Given the description of an element on the screen output the (x, y) to click on. 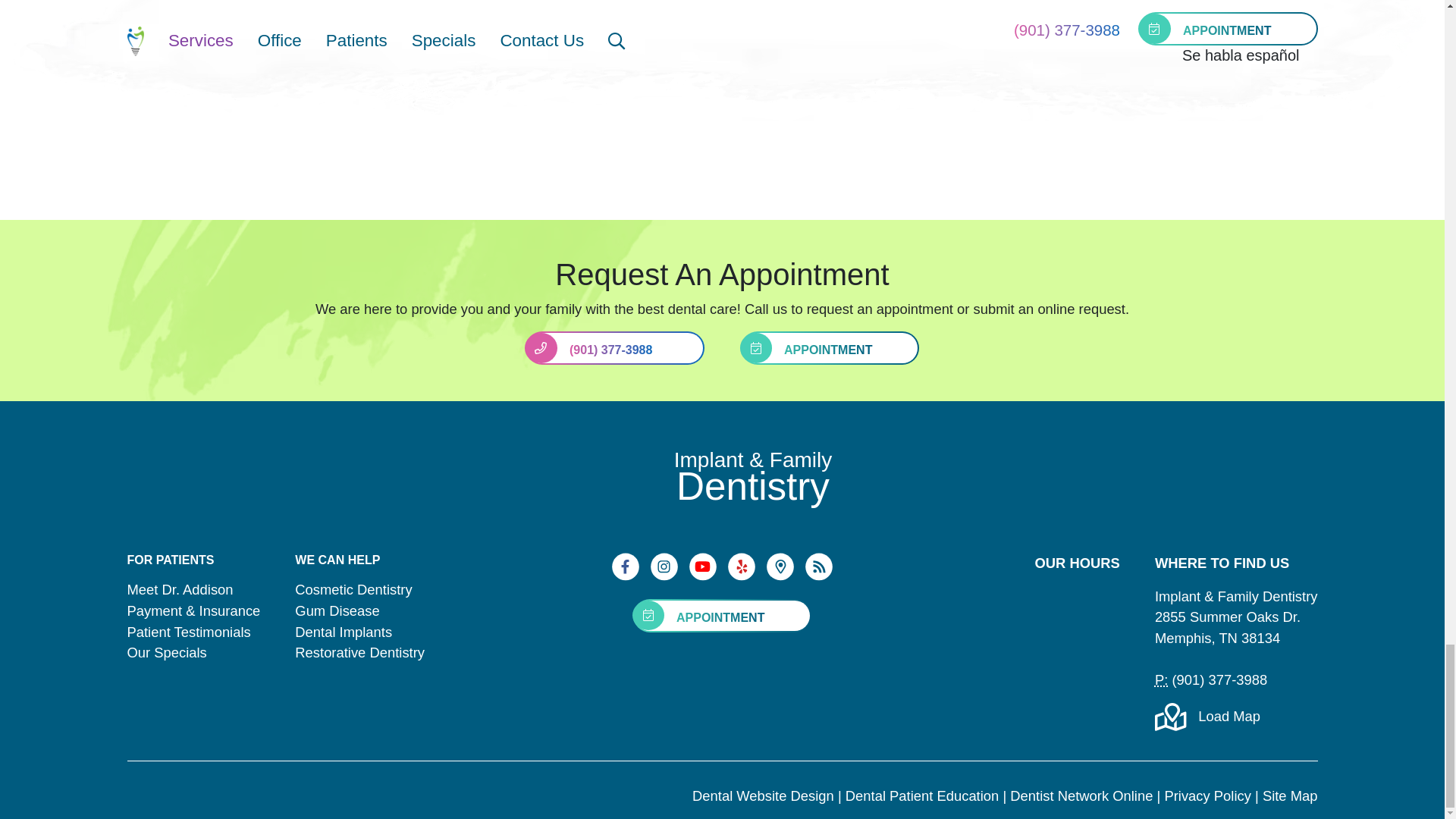
APPOINTMENT (844, 347)
Blog Link (818, 575)
Youtube Link (704, 575)
Man getting his teeth polished (874, 91)
Map Link (782, 575)
Yelp Link (742, 575)
Facebook Link (627, 575)
InfoStar Productions - Dental Web Site Design (175, 786)
Instagram Link (665, 575)
InfoStar Productions - Dental Web Site Design (175, 795)
